Given the description of an element on the screen output the (x, y) to click on. 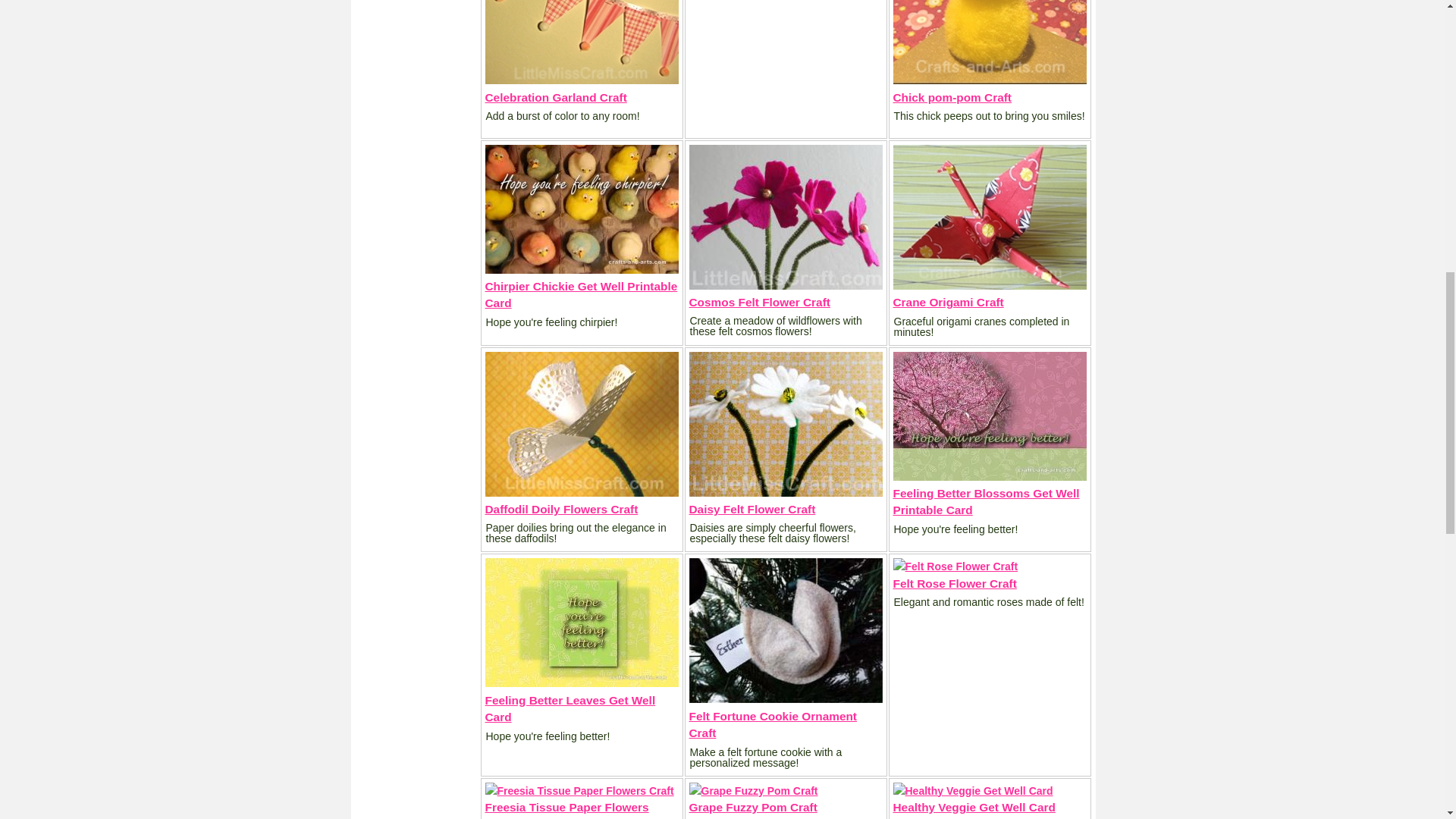
Feeling Better Leaves Get Well Card (570, 708)
Crane Origami Craft (948, 301)
Daisy Felt Flower Craft (751, 508)
Celebration Garland Craft (555, 97)
Chick pom-pom Craft (952, 97)
Feeling Better Blossoms Get Well Printable Card (986, 501)
Chirpier Chickie Get Well Printable Card (581, 294)
Daffodil Doily Flowers Craft (561, 508)
Cosmos Felt Flower Craft (758, 301)
